Given the description of an element on the screen output the (x, y) to click on. 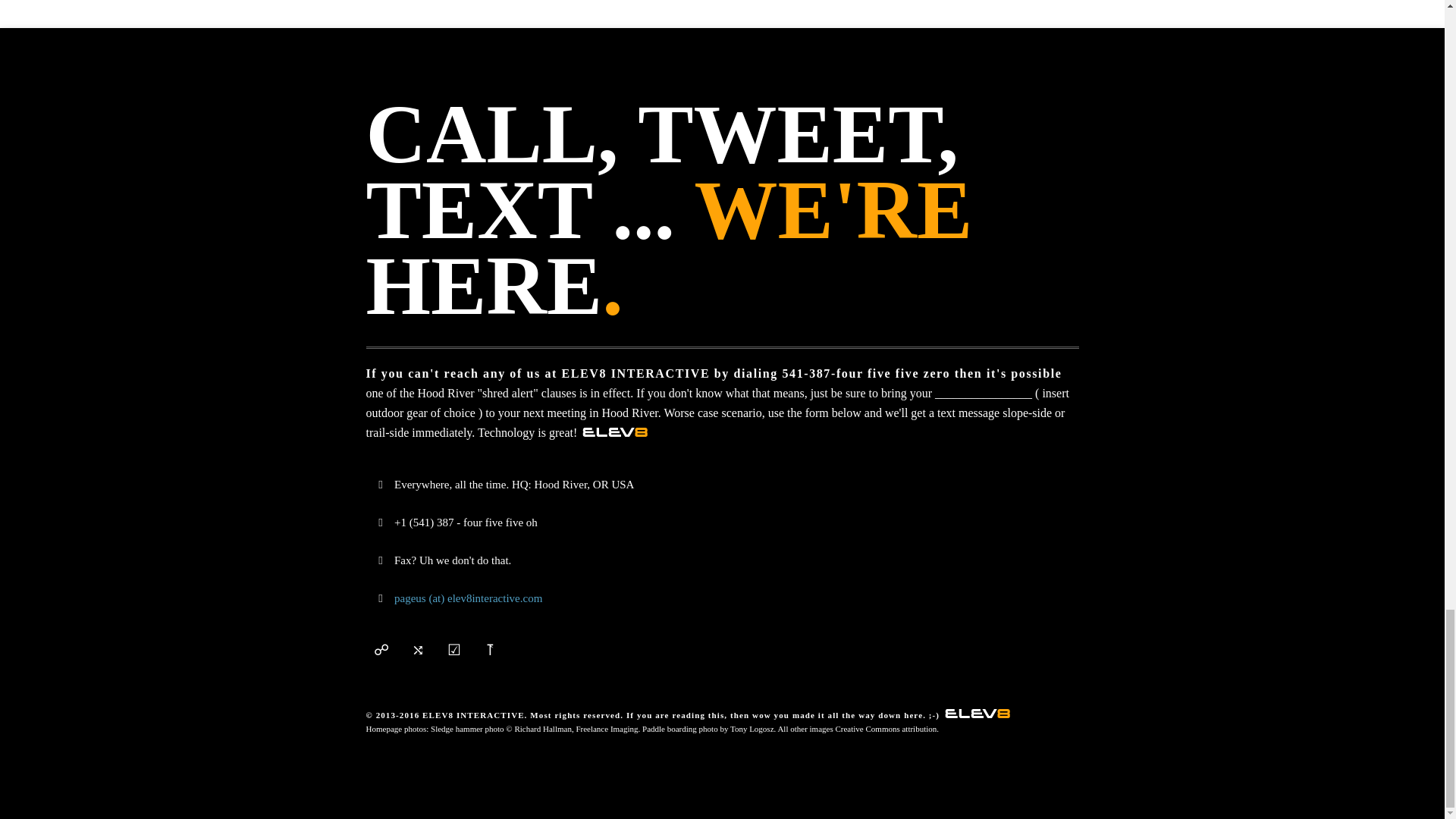
View Vimeo Profile (453, 649)
View Facebook Profile (416, 649)
View Linkedin Profile (489, 649)
View Twitter Profile (380, 649)
